Given the description of an element on the screen output the (x, y) to click on. 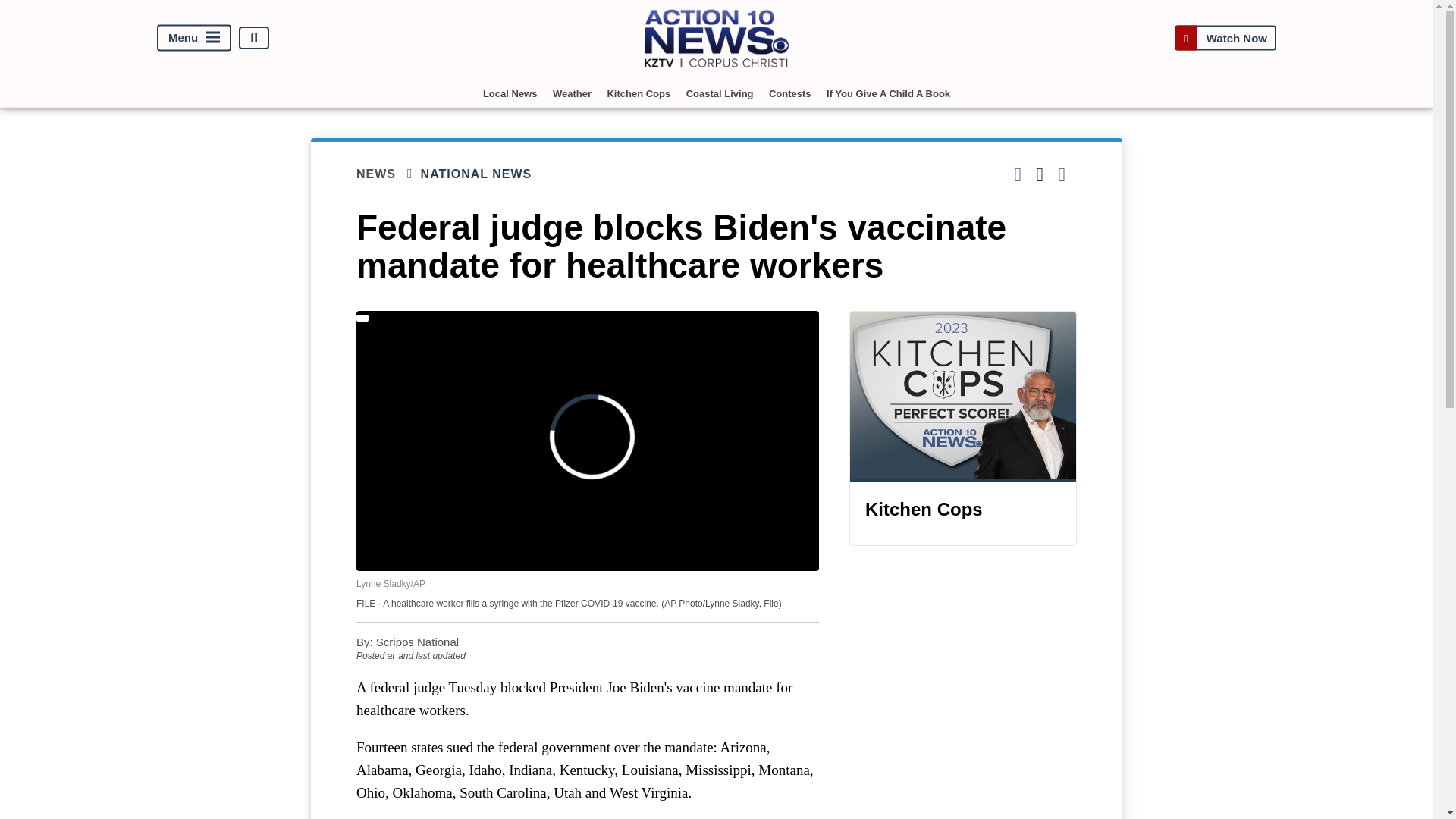
Watch Now (1224, 38)
Menu (194, 38)
